Given the description of an element on the screen output the (x, y) to click on. 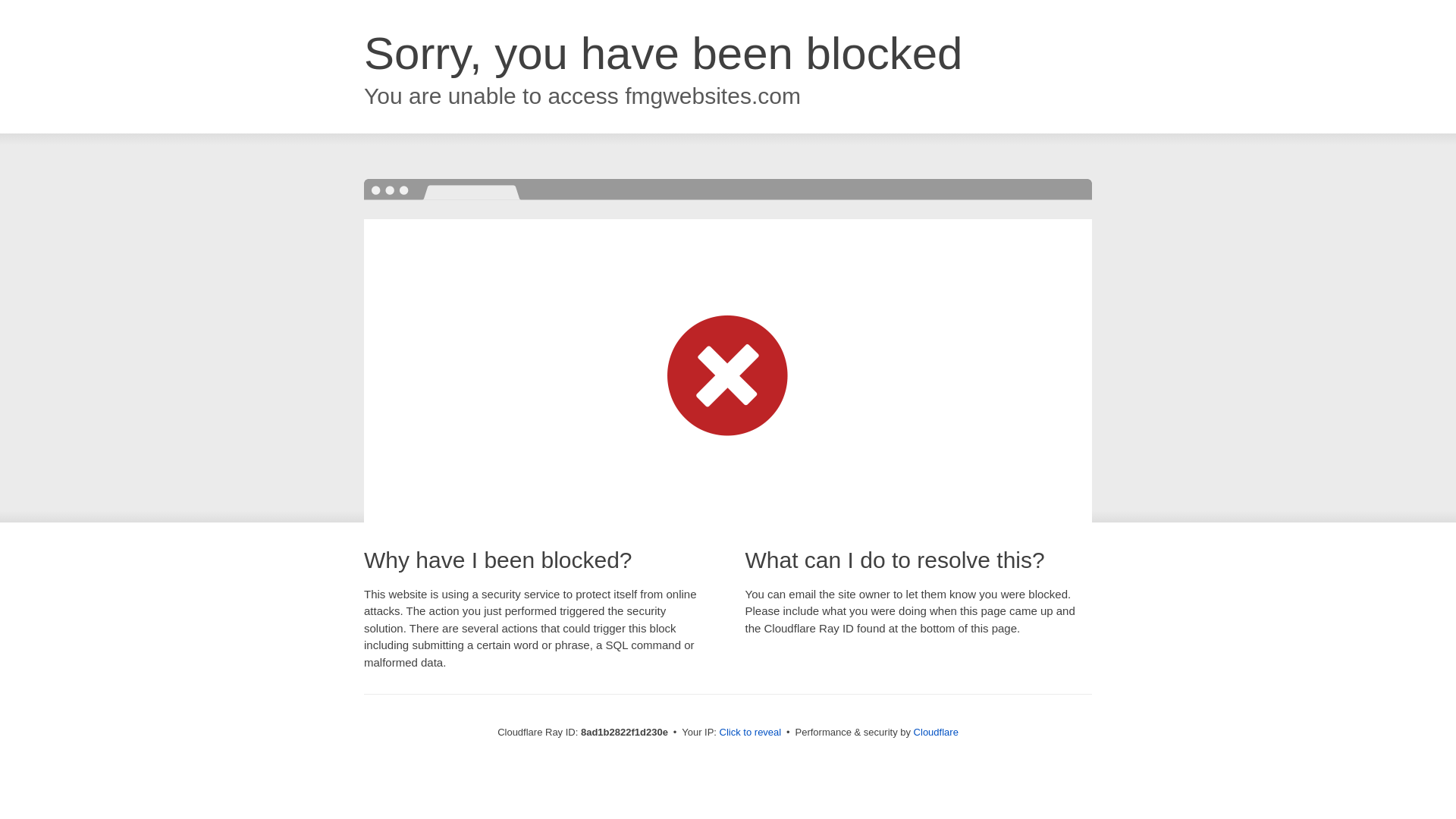
Click to reveal (750, 732)
Cloudflare (936, 731)
